Given the description of an element on the screen output the (x, y) to click on. 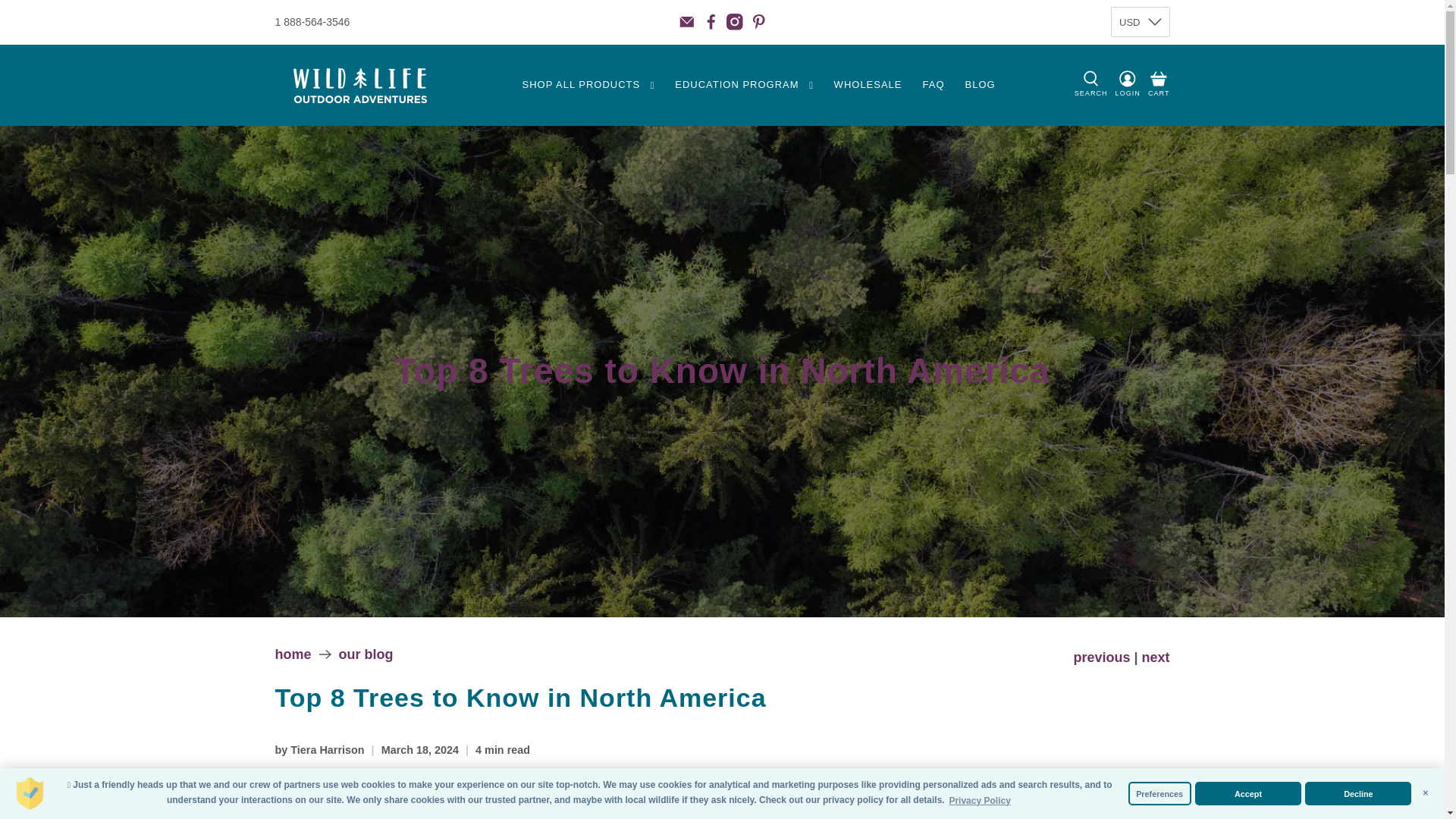
Privacy Policy (979, 800)
CAD (1139, 83)
Previous (1101, 657)
CART (1159, 84)
Decline (1357, 793)
Preferences (1159, 793)
EDUCATION PROGRAM (744, 84)
USD (1139, 57)
SHOP ALL PRODUCTS (588, 84)
SEARCH (1091, 84)
LOGIN (1128, 84)
WHOLESALE (868, 84)
BLOG (980, 84)
Next (1155, 657)
Our Blog (366, 653)
